Given the description of an element on the screen output the (x, y) to click on. 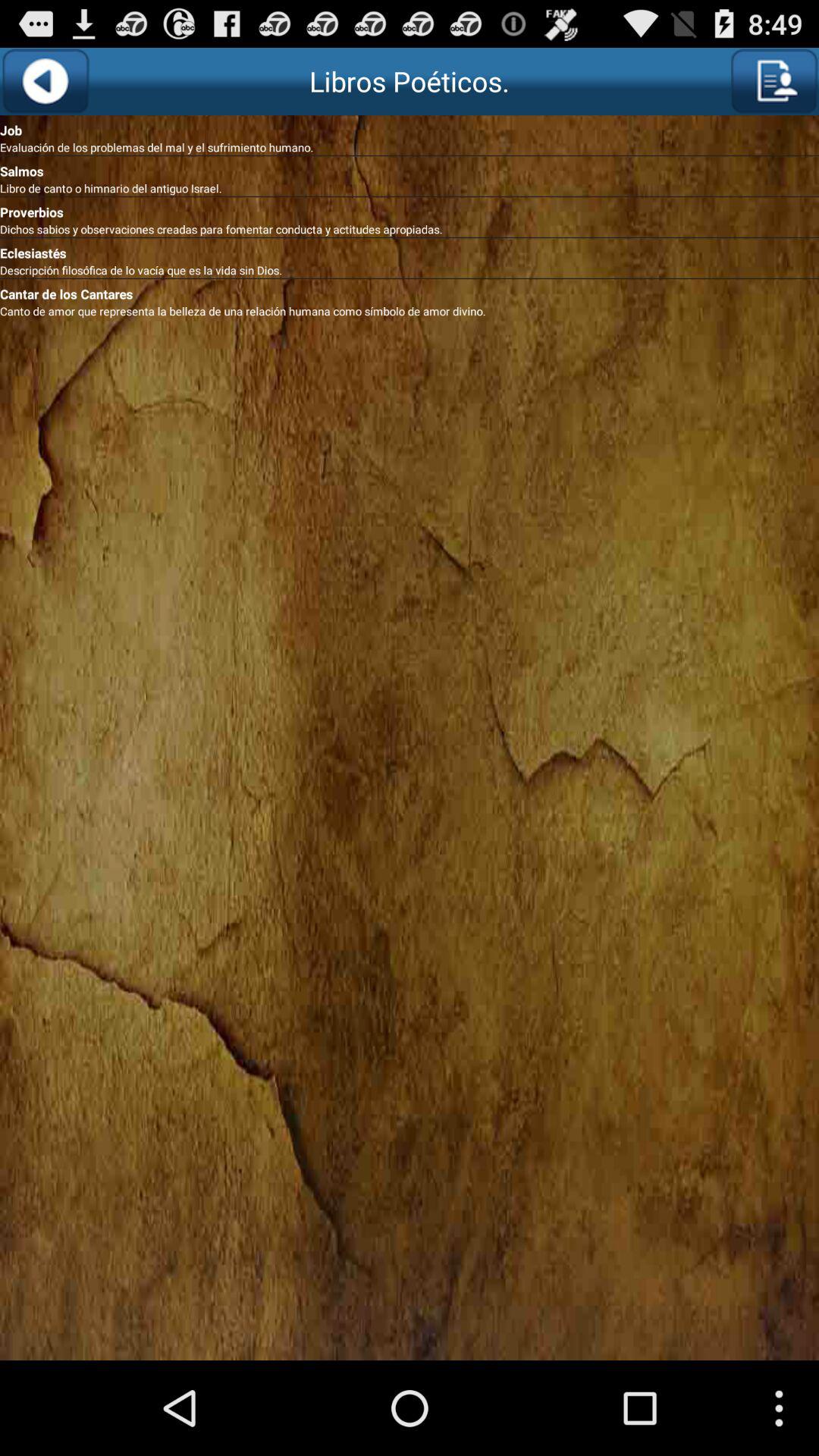
turn on the icon at the top left corner (45, 81)
